Given the description of an element on the screen output the (x, y) to click on. 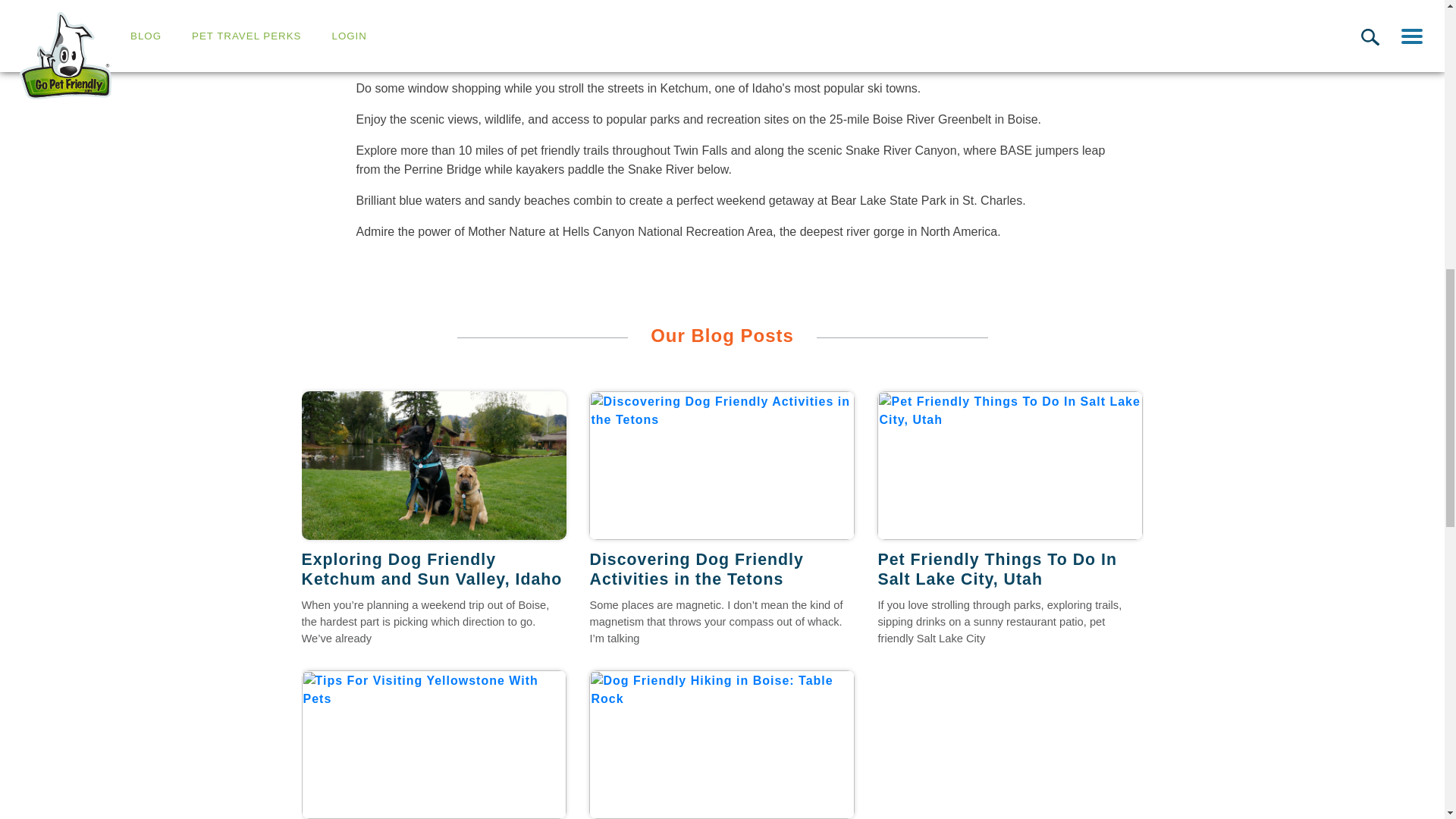
Discovering Dog Friendly Activities in the Tetons (721, 569)
Pet Friendly Things To Do In Salt Lake City, Utah (1009, 465)
Transportation (321, 17)
Exploring Dog Friendly Ketchum and Sun Valley, Idaho (434, 569)
Pet Friendly Things To Do In Salt Lake City, Utah (1009, 569)
Discovering Dog Friendly Activities in the Tetons (721, 465)
Tips For Visiting Yellowstone With Pets (434, 744)
Exploring Dog Friendly Ketchum and Sun Valley, Idaho (434, 465)
Dog Friendly Hiking in Boise: Table Rock (721, 744)
